Given the description of an element on the screen output the (x, y) to click on. 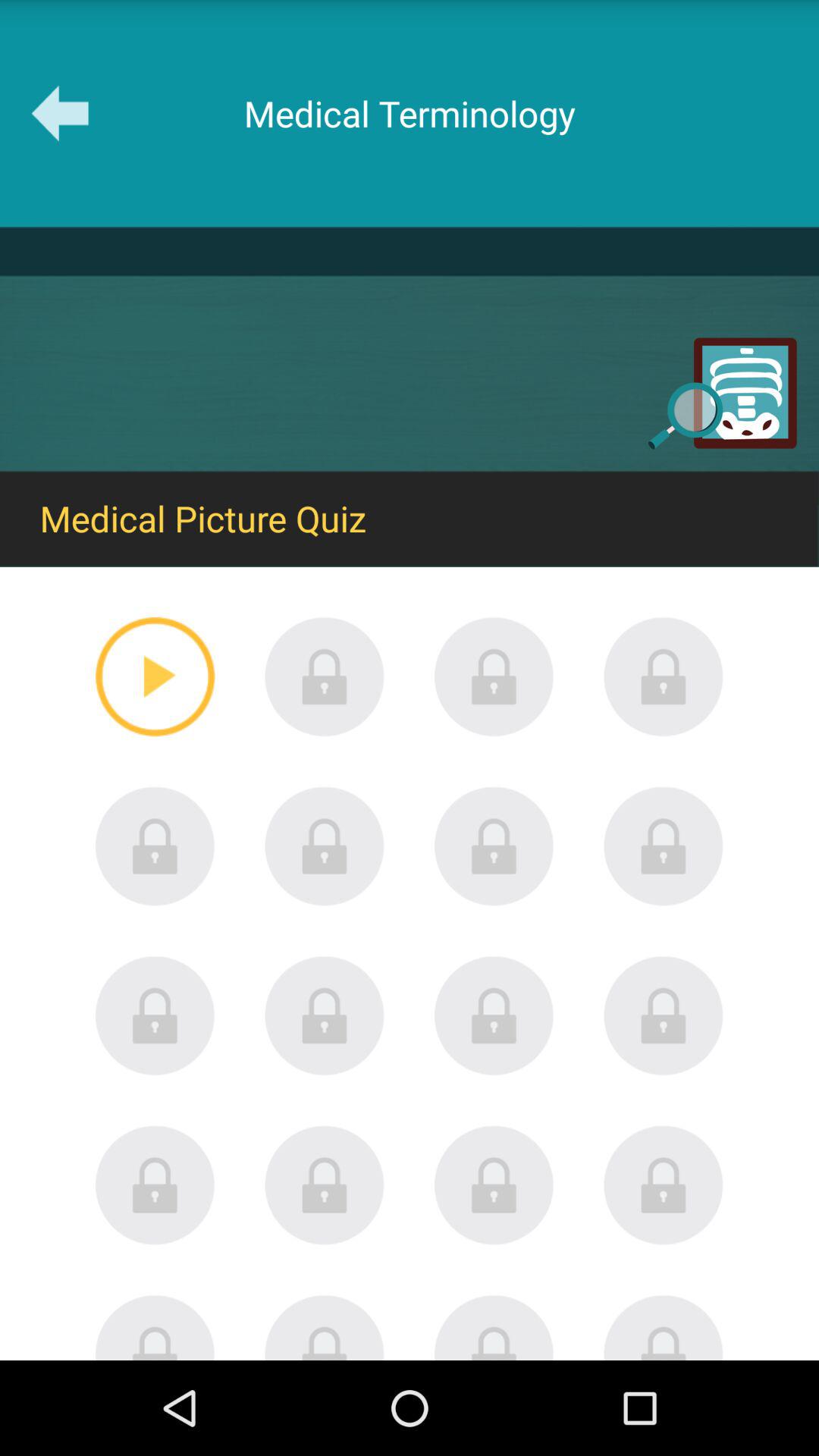
select content (154, 846)
